Given the description of an element on the screen output the (x, y) to click on. 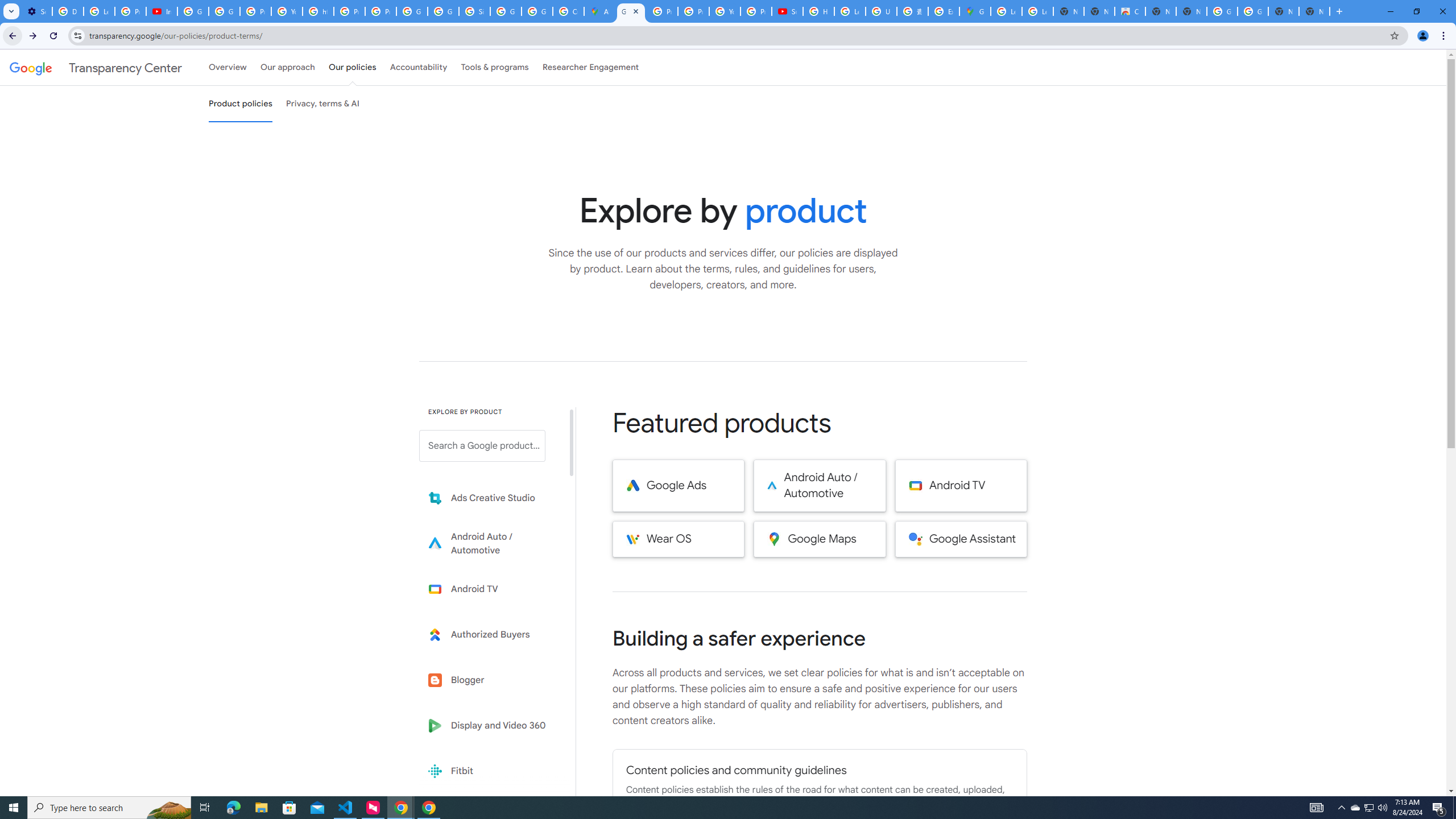
Learn more about Android Auto (490, 543)
Introduction | Google Privacy Policy - YouTube (161, 11)
Settings - Performance (36, 11)
New Tab (1314, 11)
Our policies (351, 67)
Privacy Help Center - Policies Help (349, 11)
